Given the description of an element on the screen output the (x, y) to click on. 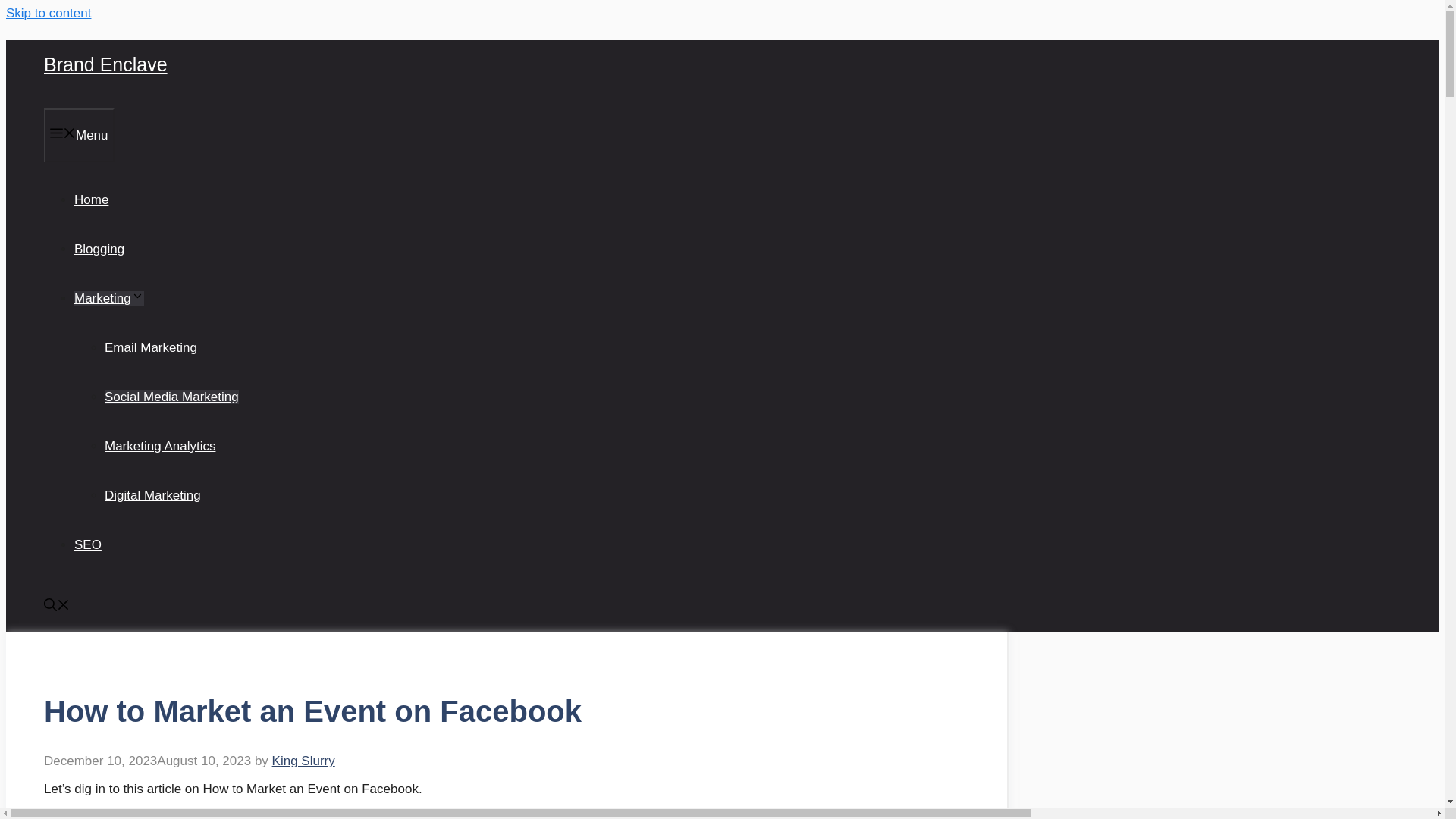
Brand Enclave (105, 64)
Skip to content (47, 12)
SEO (87, 544)
Digital Marketing (152, 495)
Email Marketing (150, 347)
King Slurry (303, 760)
View all posts by King Slurry (303, 760)
Home (90, 199)
Marketing (109, 298)
Marketing Analytics (159, 445)
Social Media Marketing (171, 396)
Blogging (98, 248)
Menu (79, 135)
Skip to content (47, 12)
